Given the description of an element on the screen output the (x, y) to click on. 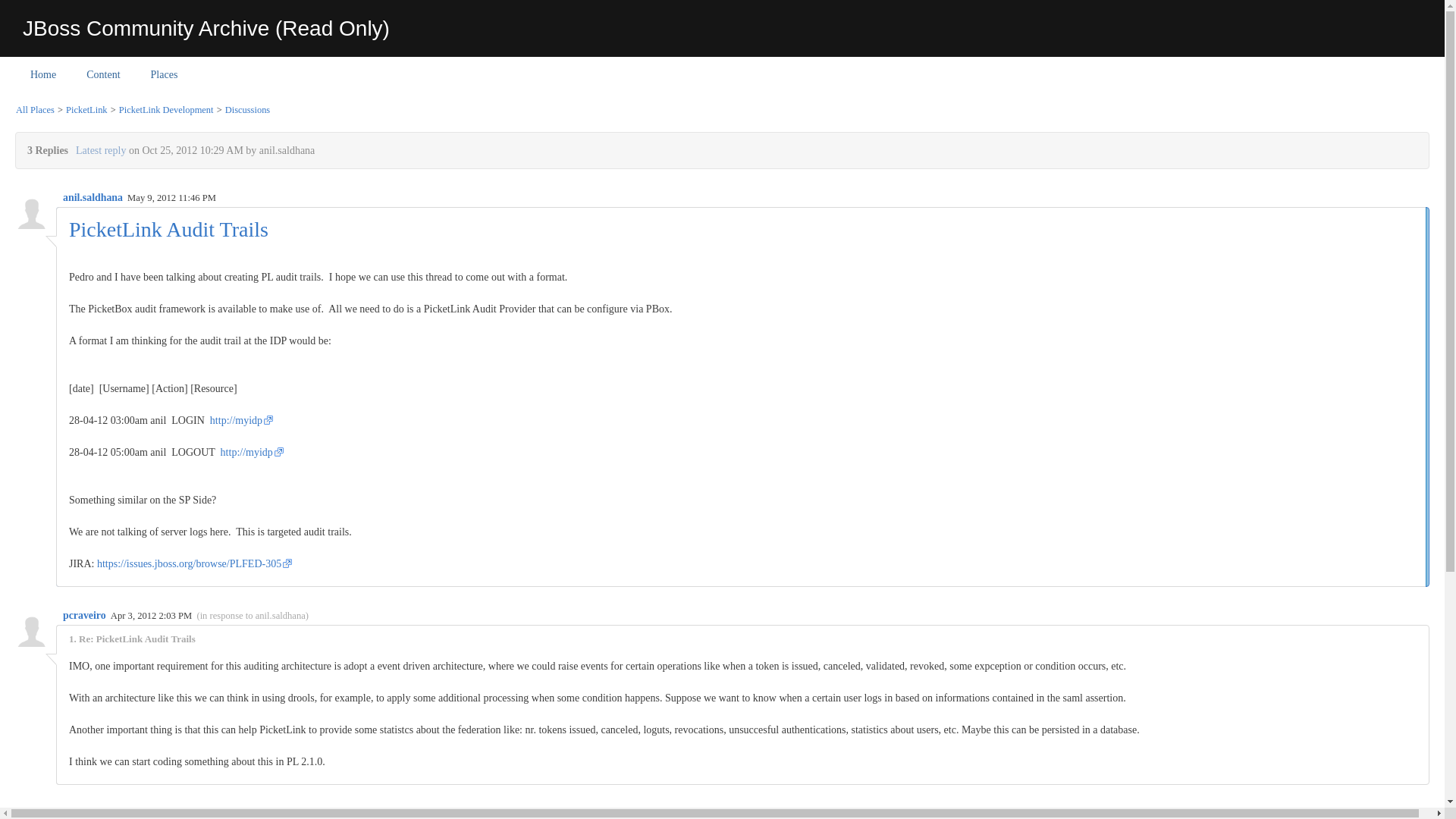
PicketLink (86, 109)
PicketLink Development (165, 109)
Places (164, 74)
PicketLink Audit Trails (167, 228)
in response to anil.saldhana (252, 615)
Home (42, 74)
pcraveiro (84, 614)
Go to message (252, 615)
anil.saldhana (93, 197)
All Places (34, 109)
